Given the description of an element on the screen output the (x, y) to click on. 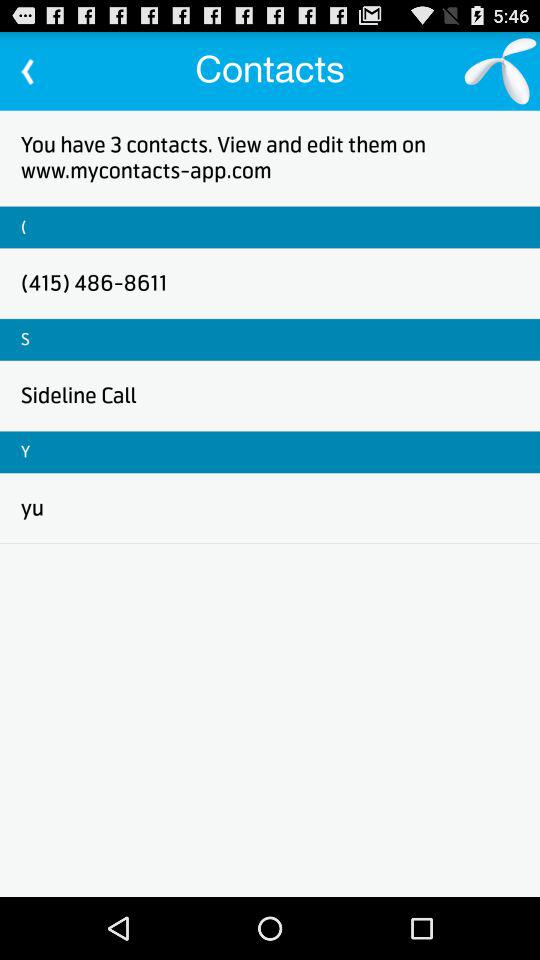
choose ( item (23, 226)
